Given the description of an element on the screen output the (x, y) to click on. 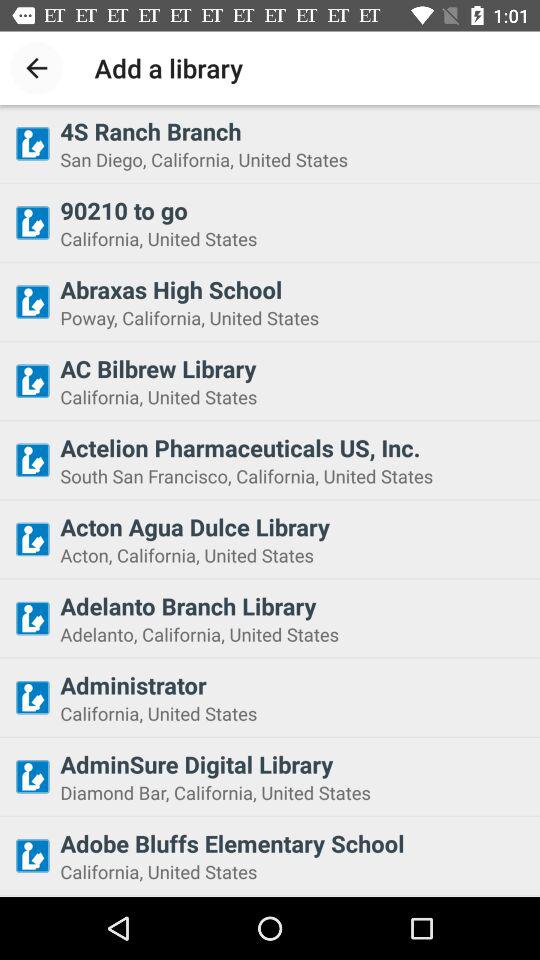
select ac bilbrew library item (294, 368)
